Given the description of an element on the screen output the (x, y) to click on. 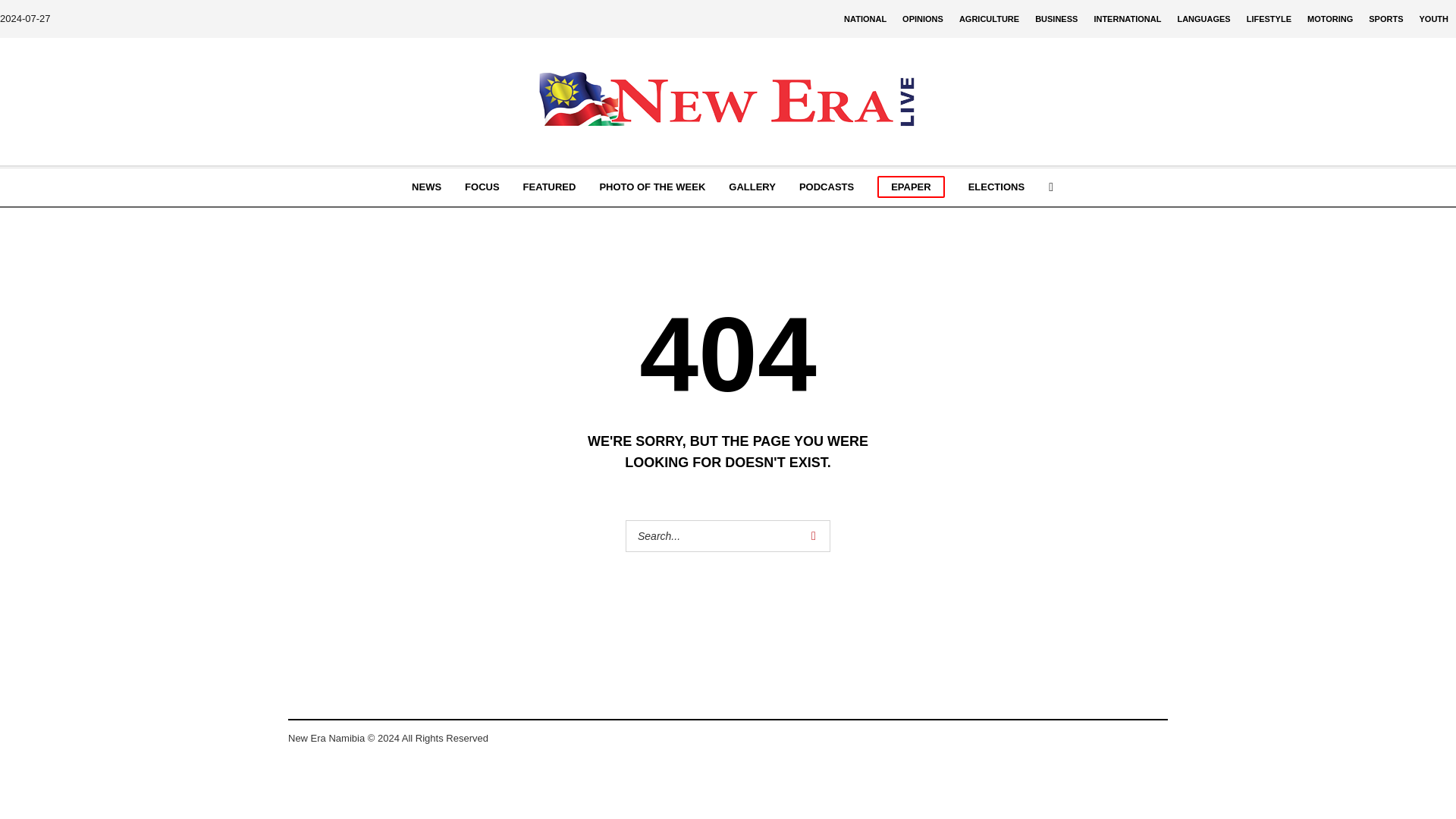
INTERNATIONAL (1127, 18)
MOTORING (1329, 18)
OPINIONS (922, 18)
FOCUS (481, 187)
LIFESTYLE (1268, 18)
NEWS (426, 187)
NATIONAL (864, 18)
LANGUAGES (1203, 18)
BUSINESS (1055, 18)
AGRICULTURE (989, 18)
SPORTS (1385, 18)
